Given the description of an element on the screen output the (x, y) to click on. 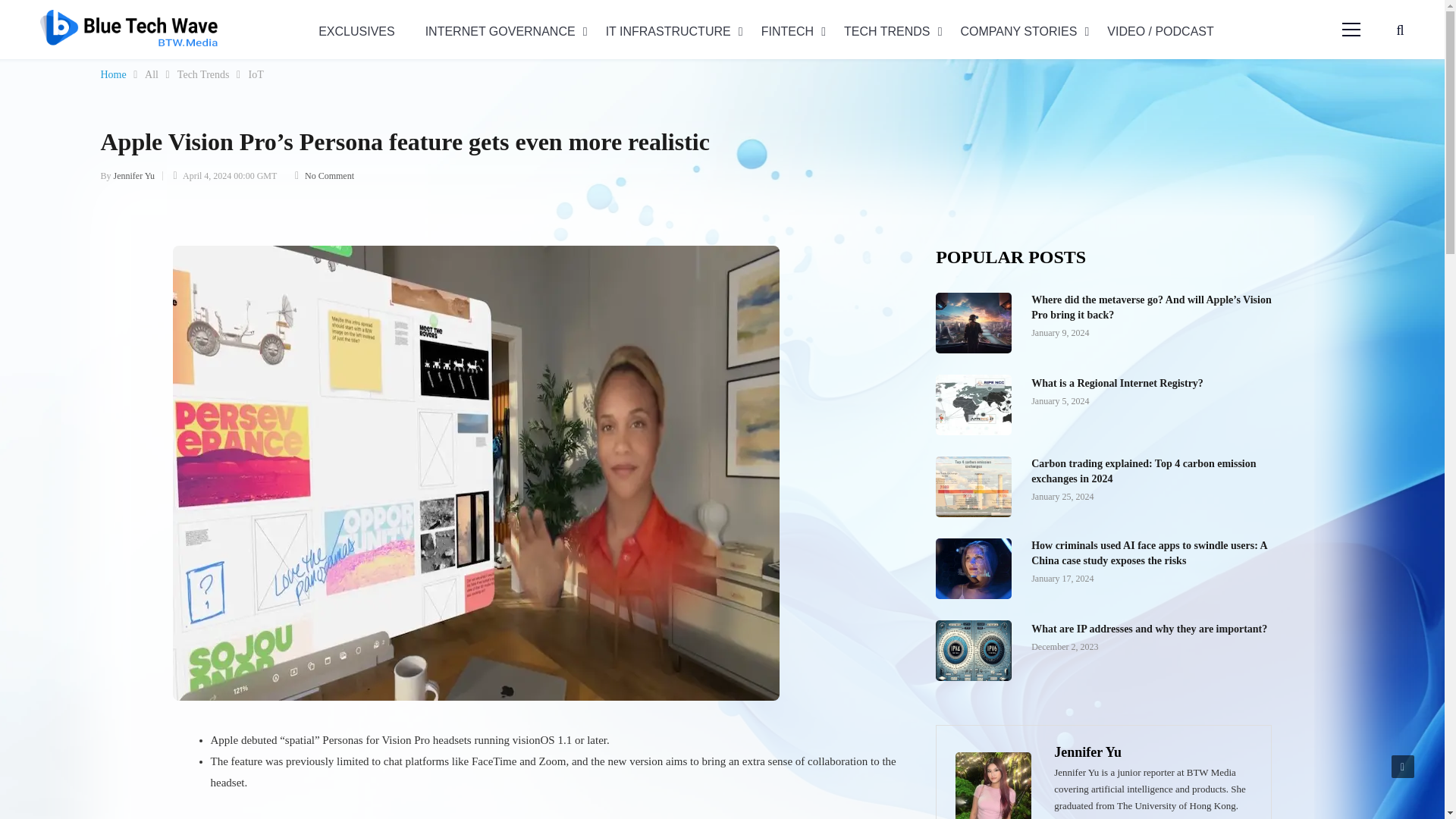
TECH TRENDS (893, 31)
COMPANY STORIES (1023, 31)
INTERNET GOVERNANCE (506, 31)
FINTECH (793, 31)
What are IP addresses and why they are important? (977, 653)
IT INFRASTRUCTURE (674, 31)
What is a Regional Internet Registry? (977, 407)
